Given the description of an element on the screen output the (x, y) to click on. 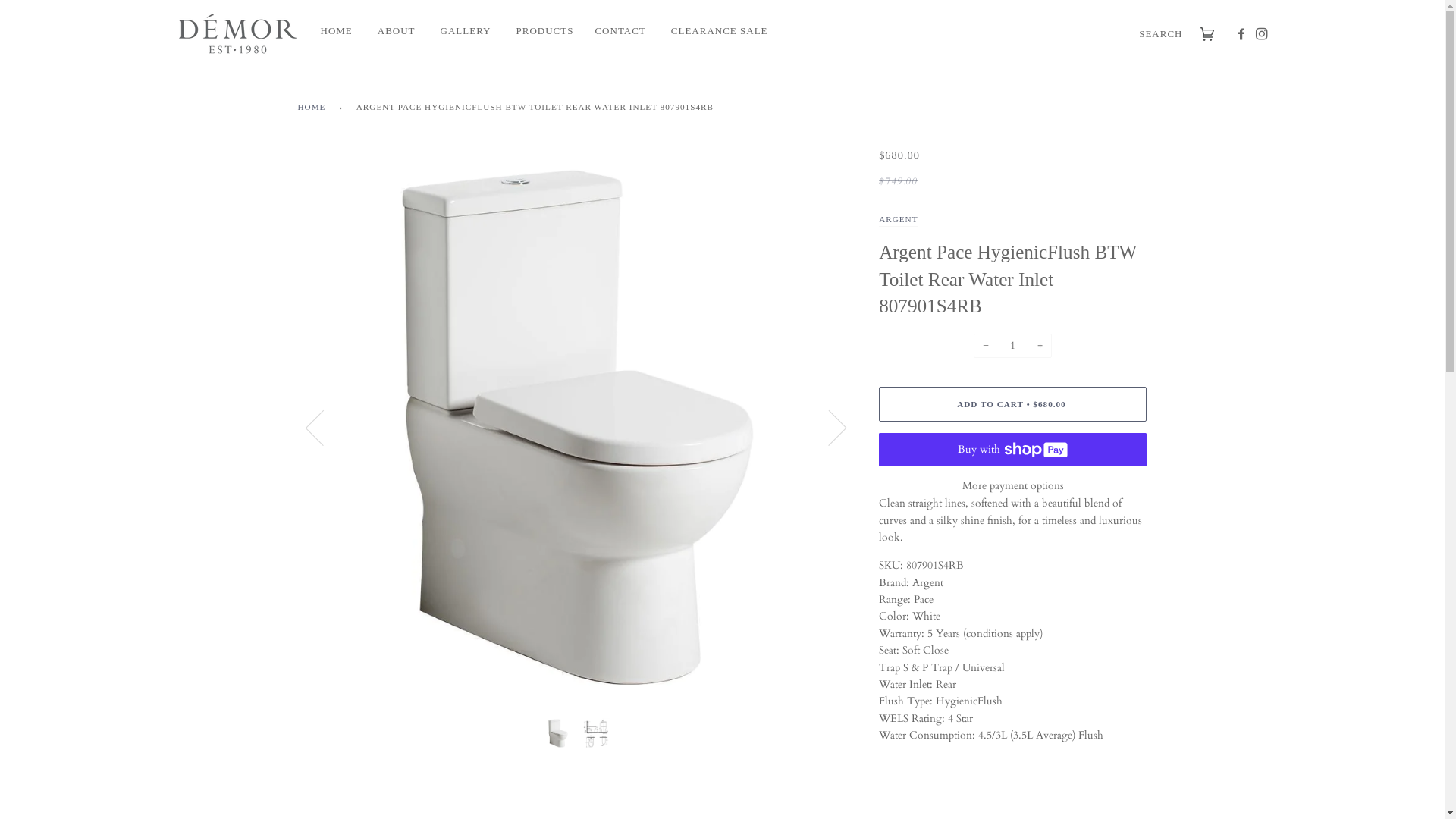
FACEBOOK Element type: text (1232, 34)
Next Element type: text (828, 426)
CLEARANCE SALE Element type: text (708, 31)
INSTAGRAM Element type: text (1258, 34)
GALLERY Element type: text (454, 31)
SEARCH Element type: text (1156, 34)
Previous Element type: text (322, 426)
More payment options Element type: text (1012, 485)
HOME Element type: text (331, 31)
ABOUT Element type: text (384, 31)
ARGENT Element type: text (897, 220)
HOME Element type: text (313, 107)
PRODUCTS Element type: text (533, 31)
CONTACT Element type: text (610, 31)
